Given the description of an element on the screen output the (x, y) to click on. 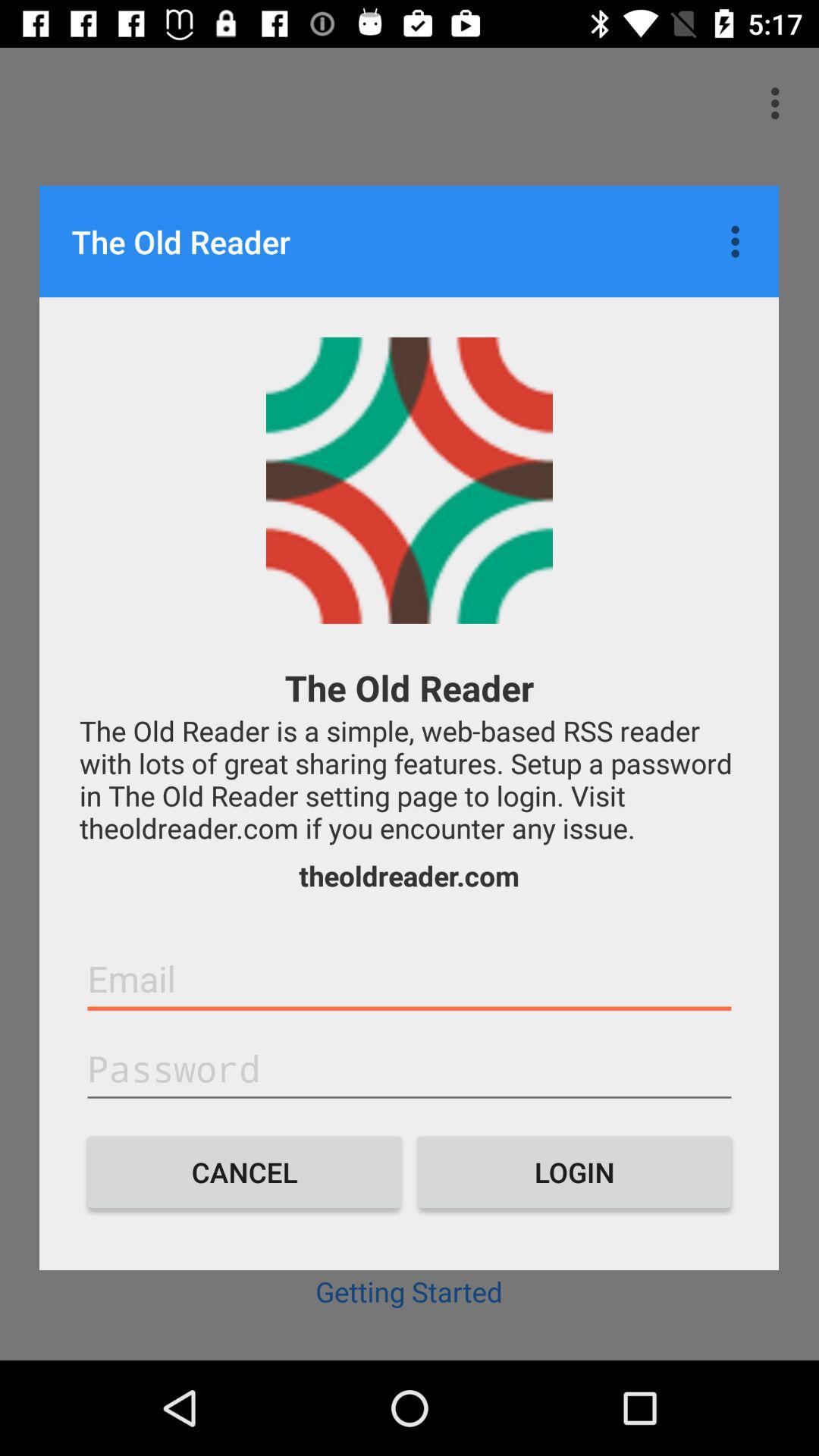
enter password (409, 1069)
